Given the description of an element on the screen output the (x, y) to click on. 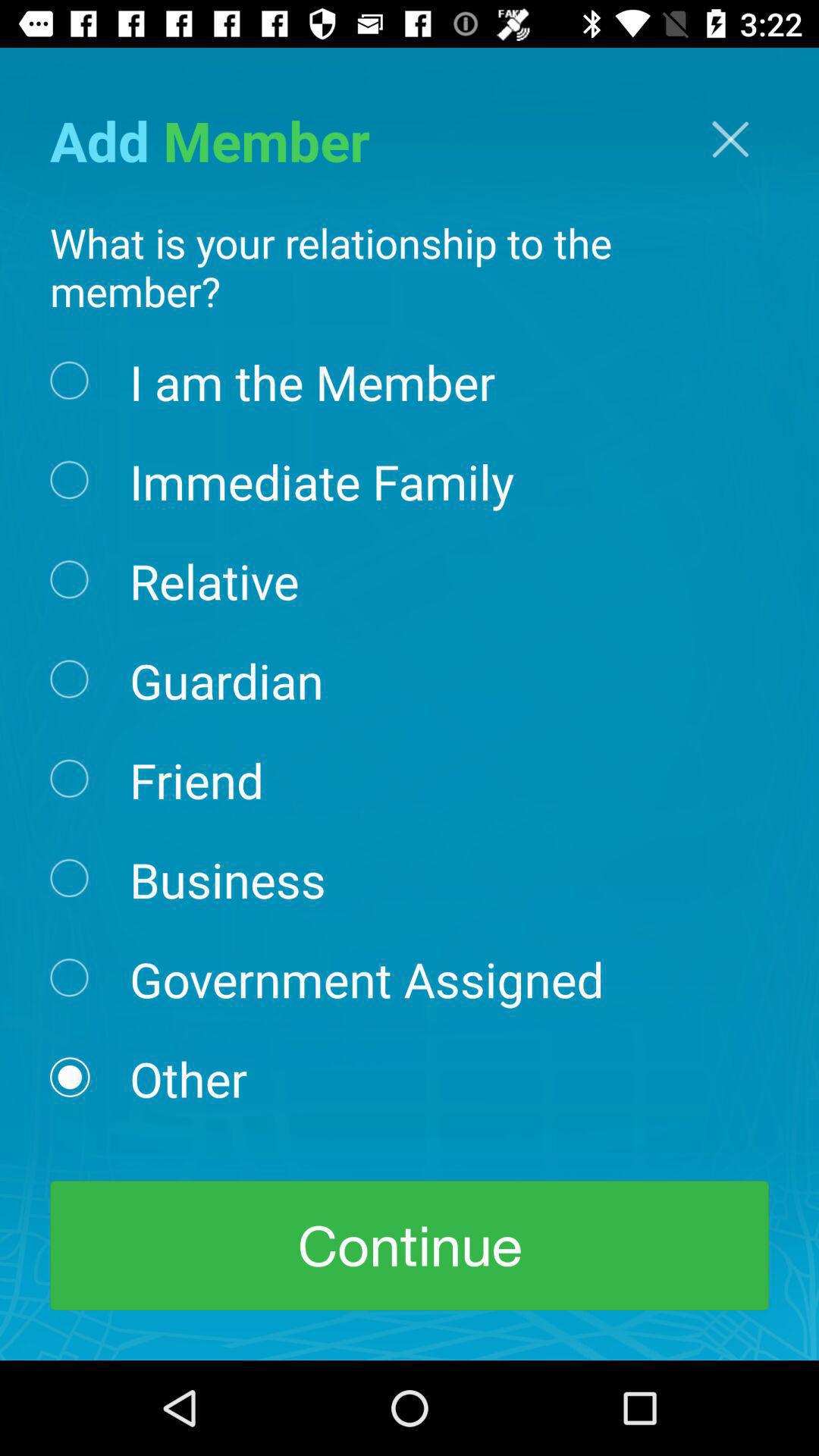
turn off the icon below guardian (196, 778)
